Given the description of an element on the screen output the (x, y) to click on. 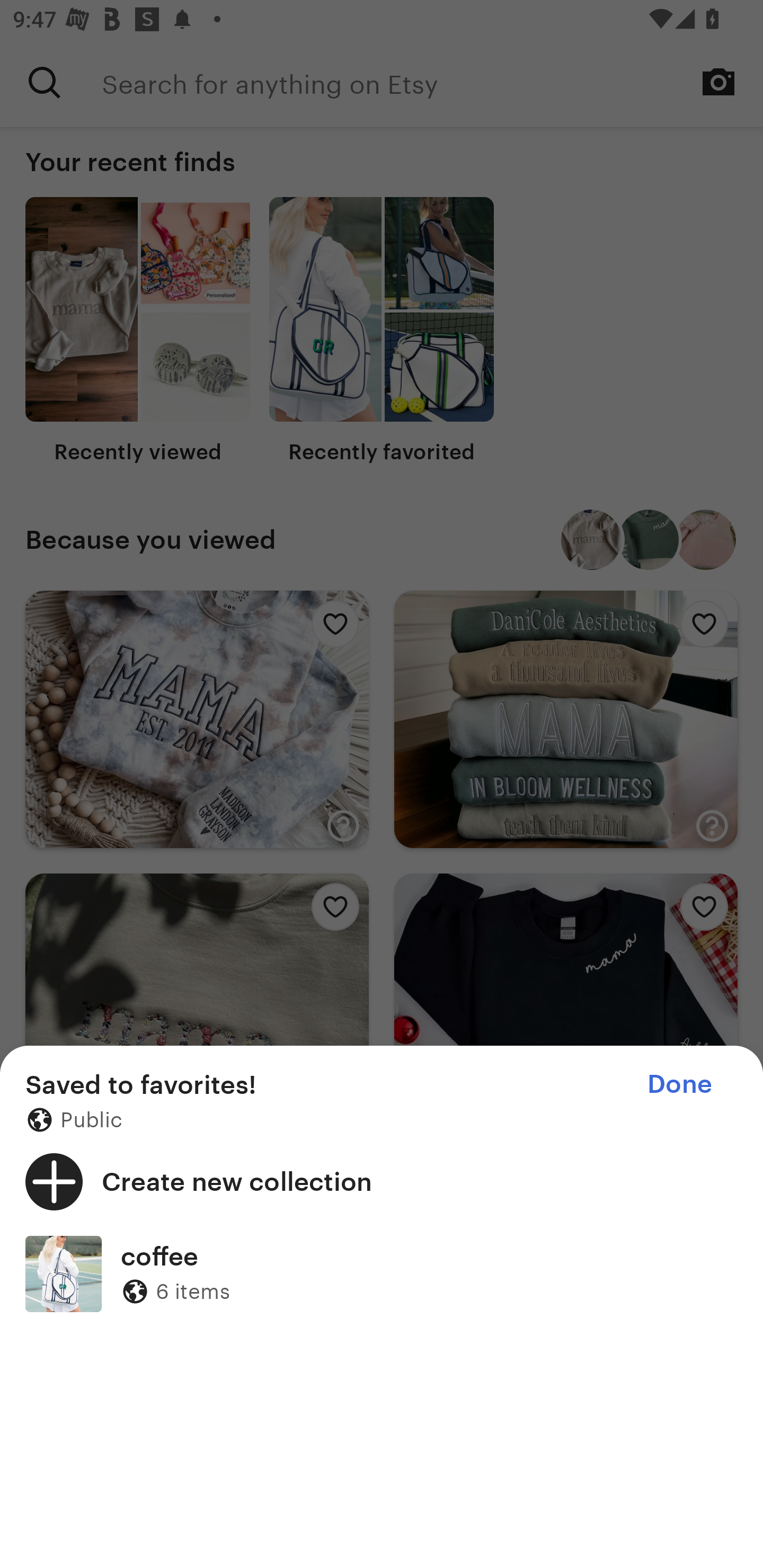
Done (679, 1083)
Create new collection (381, 1181)
coffee 6 items (381, 1273)
